Given the description of an element on the screen output the (x, y) to click on. 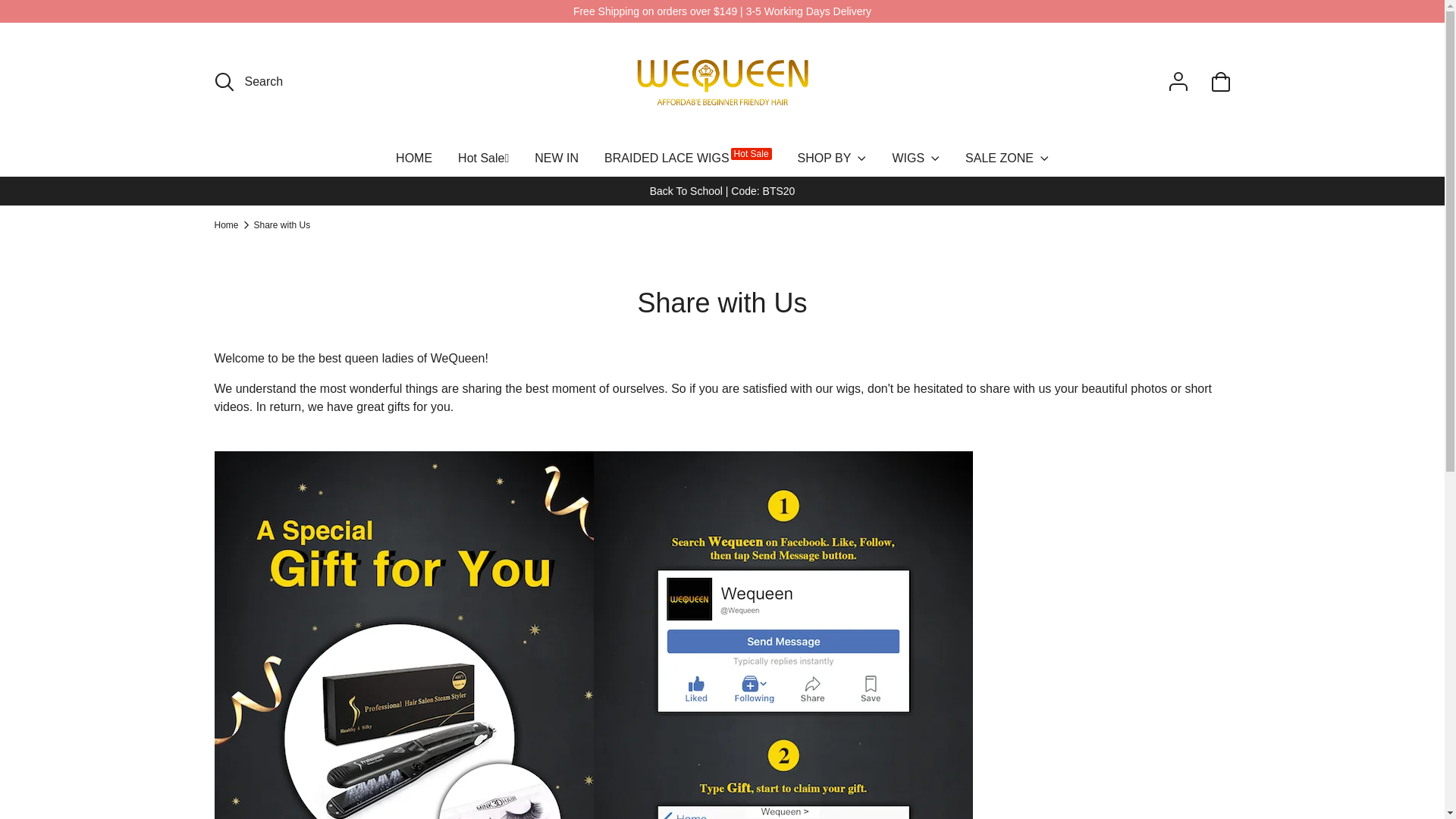
WIGS (915, 164)
NEW IN (556, 164)
SHOP BY (832, 164)
HOME (413, 164)
